Given the description of an element on the screen output the (x, y) to click on. 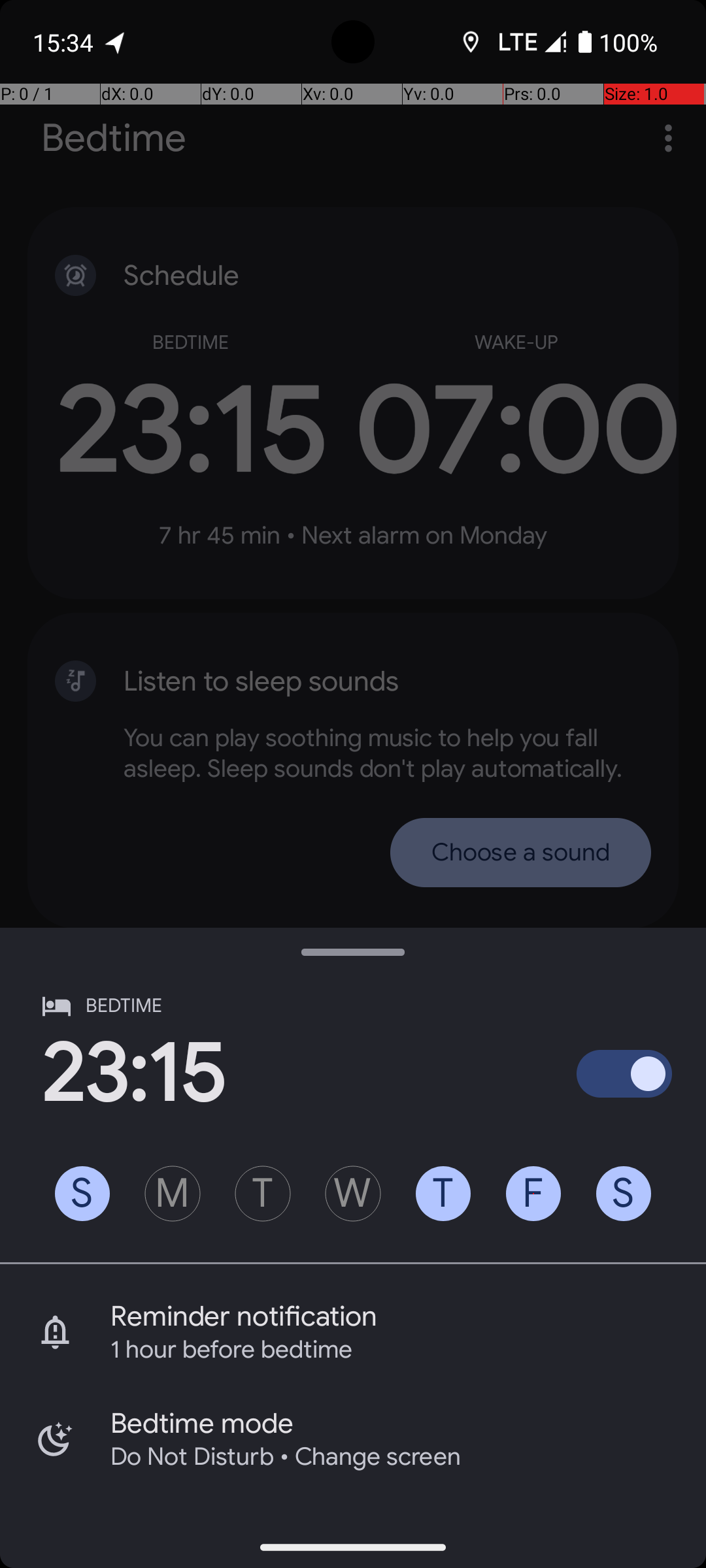
23:15 Element type: android.widget.TextView (133, 1073)
Reminder notification Element type: android.widget.TextView (408, 1316)
1 hour before bedtime Element type: android.widget.TextView (390, 1349)
Bedtime mode Element type: android.widget.TextView (408, 1423)
Do Not Disturb • Change screen Element type: android.widget.TextView (390, 1456)
